Given the description of an element on the screen output the (x, y) to click on. 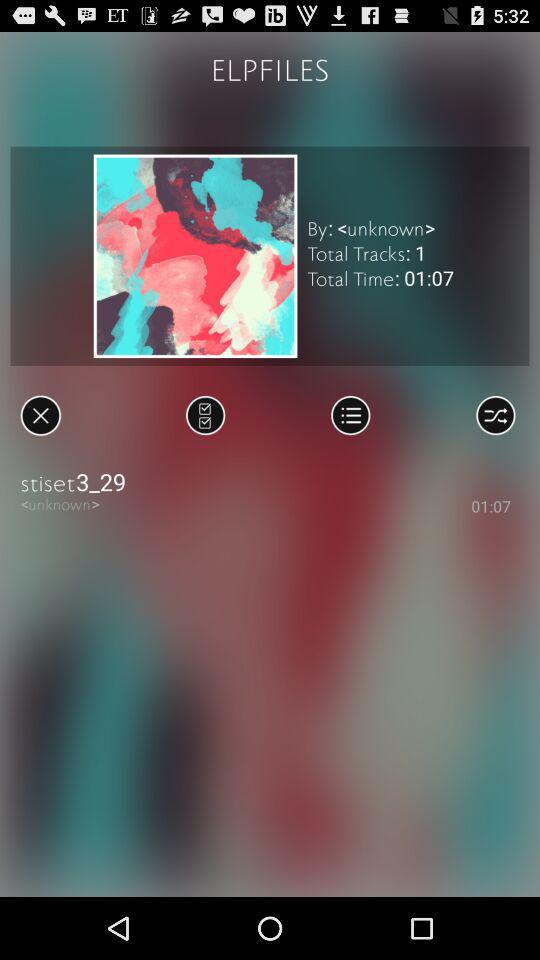
more options (350, 415)
